Given the description of an element on the screen output the (x, y) to click on. 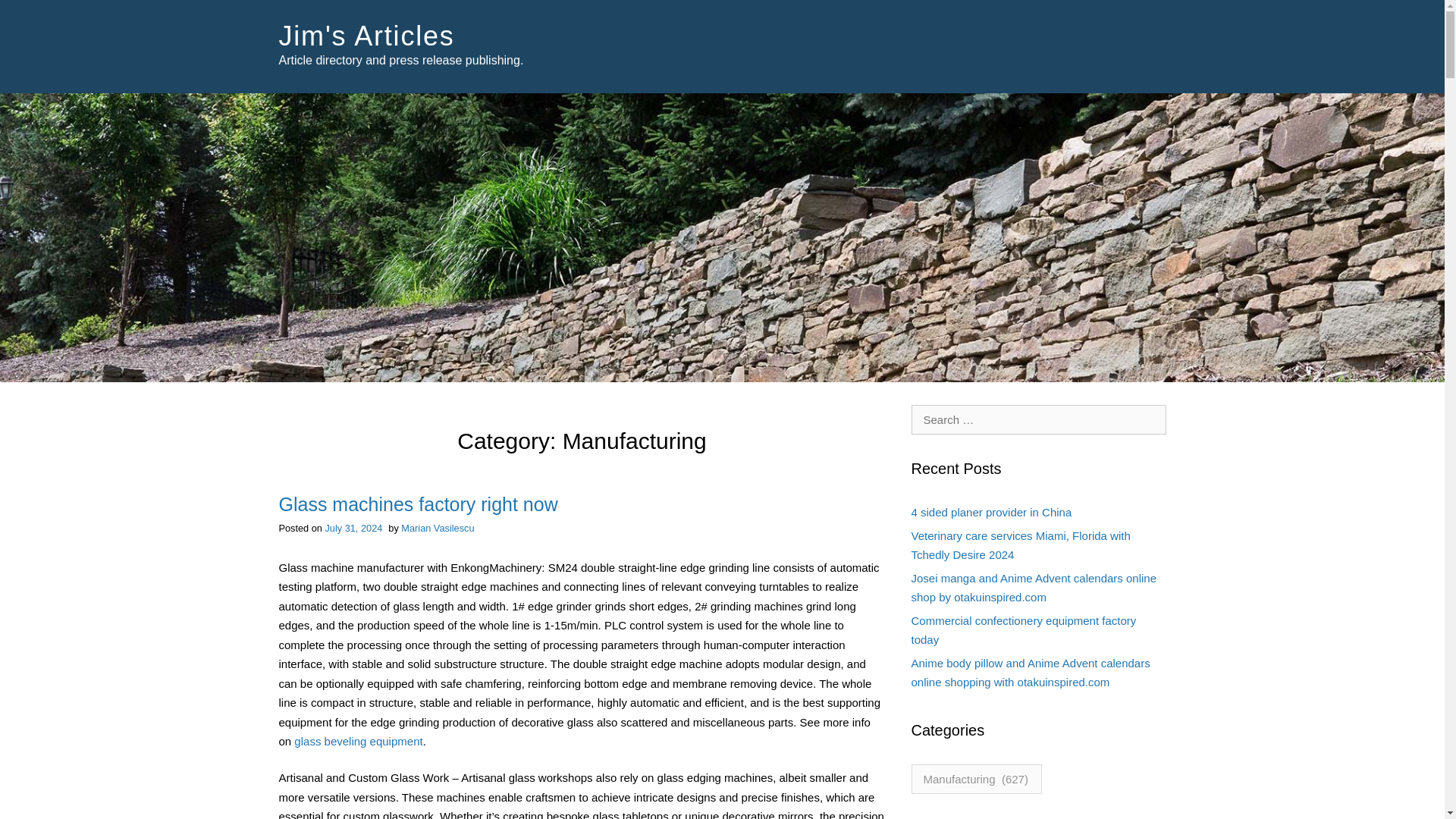
Glass machines factory right now (418, 504)
Jim's Articles (366, 35)
July 31, 2024 (352, 527)
glass beveling equipment (358, 740)
Marian Vasilescu (437, 527)
